Given the description of an element on the screen output the (x, y) to click on. 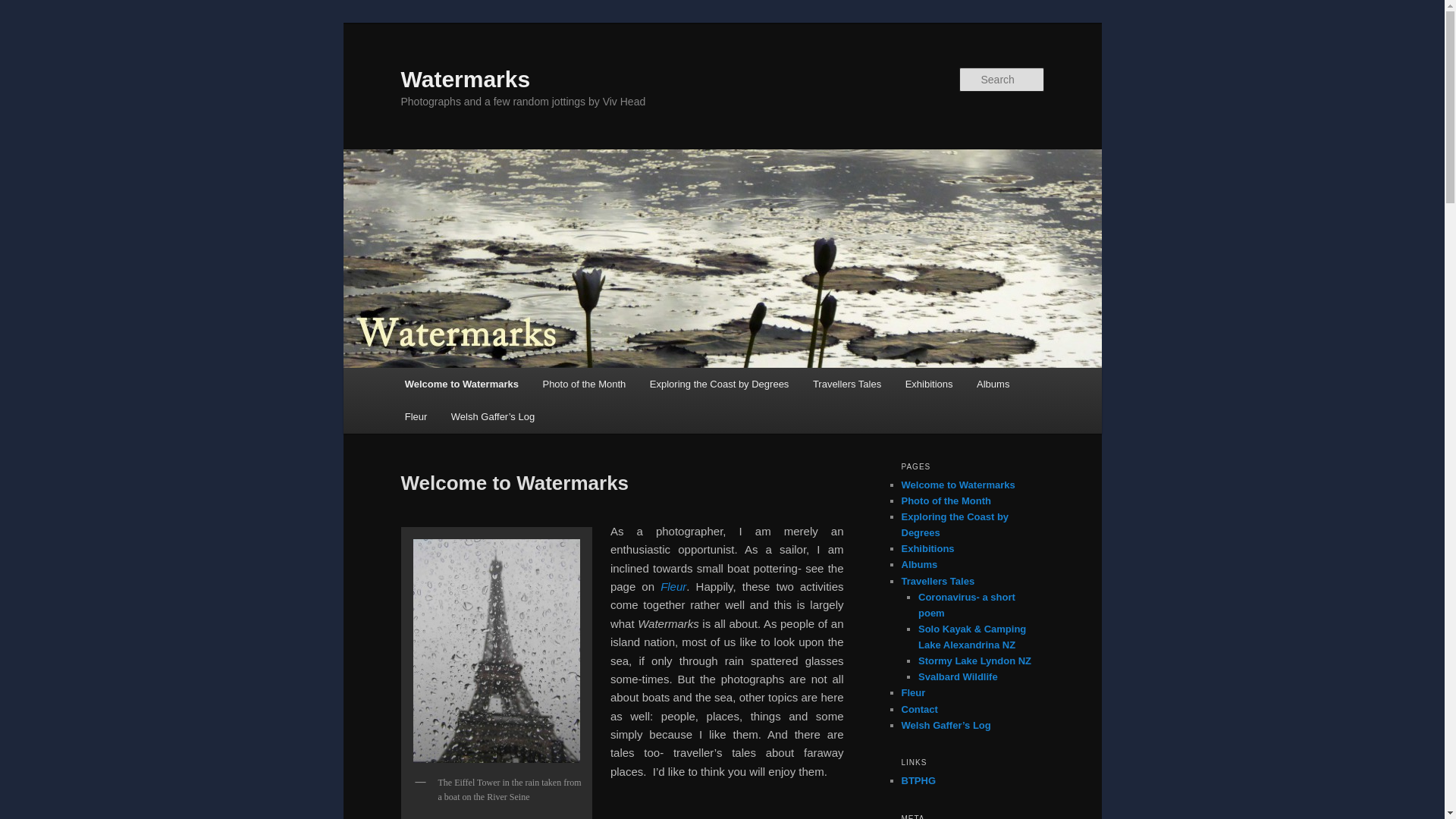
The British Transport Police History Group (918, 780)
Fleur (673, 585)
Photo of the Month (584, 383)
Watermarks (464, 78)
Search (24, 8)
Albums (992, 383)
Welcome to Watermarks (462, 383)
Fleur (416, 416)
Travellers Tales (846, 383)
